Given the description of an element on the screen output the (x, y) to click on. 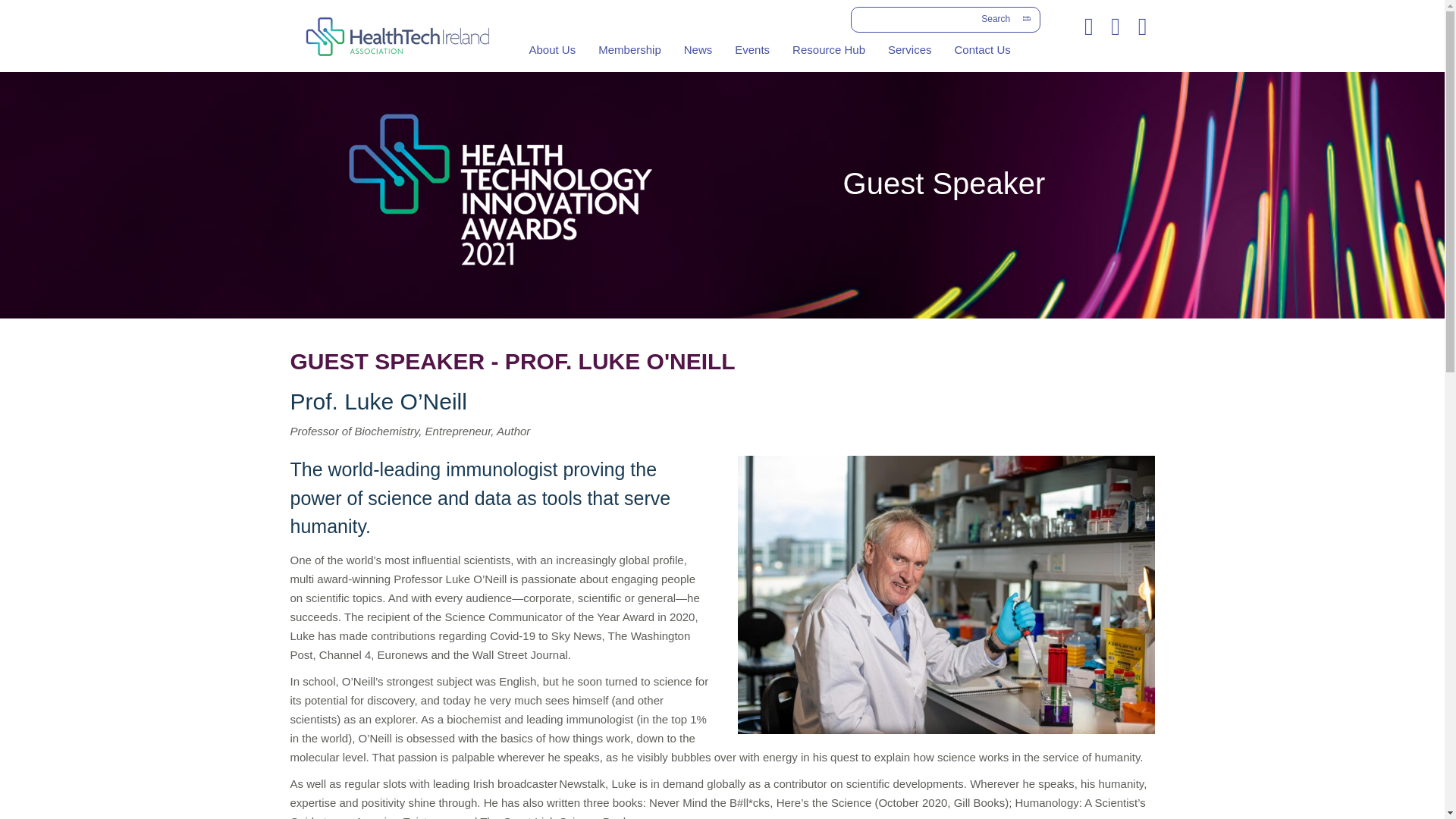
Health Tech Ireland (398, 35)
Membership (629, 50)
News (697, 50)
Services (909, 50)
About Us (551, 50)
Events (751, 50)
Resource Hub (828, 50)
Contact Us (982, 50)
